Given the description of an element on the screen output the (x, y) to click on. 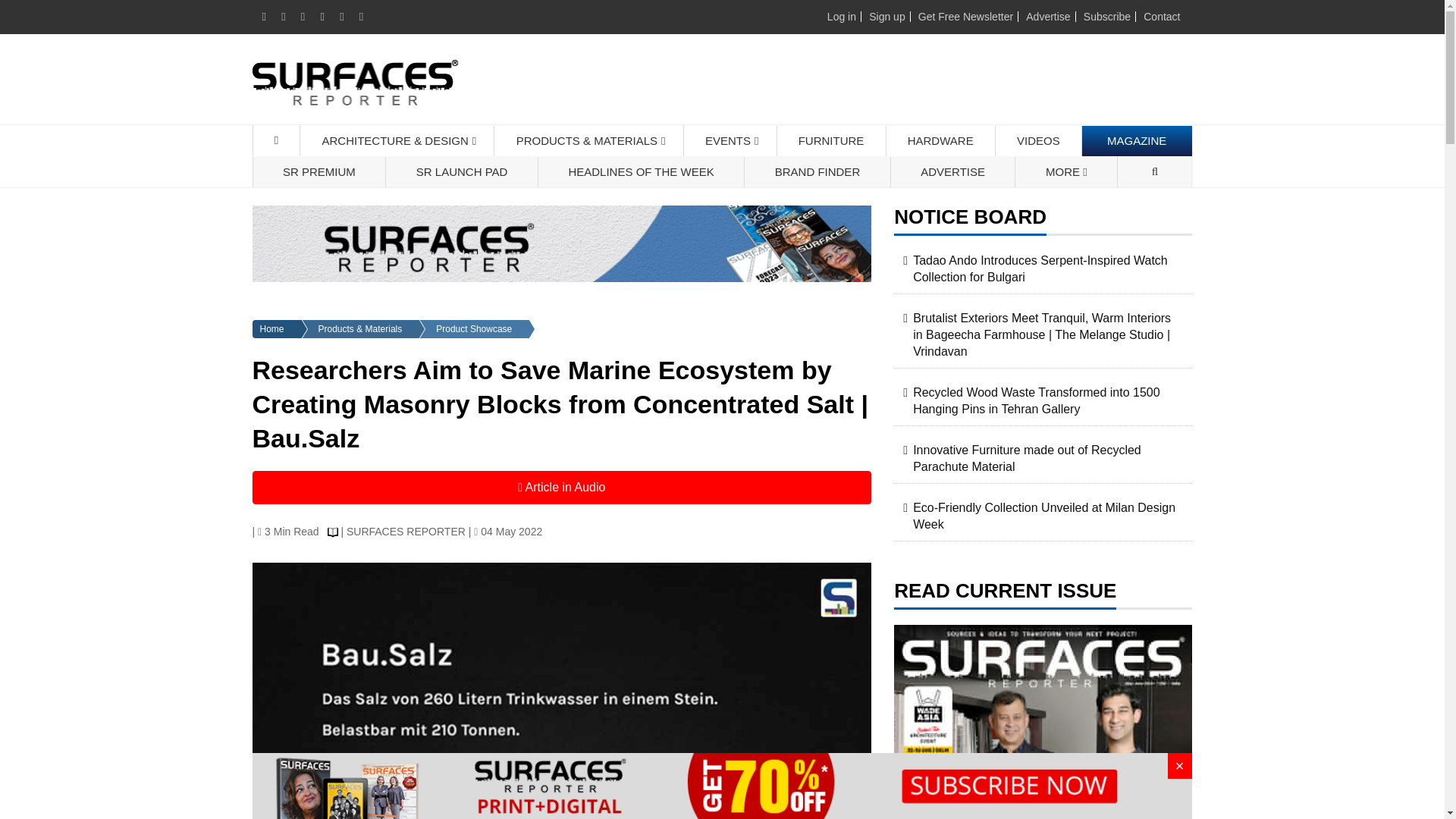
Get Free Newsletter (965, 16)
Sign up (886, 16)
Subscribe (1107, 16)
Contact (1160, 16)
Advertise (1048, 16)
Log in (841, 16)
